Given the description of an element on the screen output the (x, y) to click on. 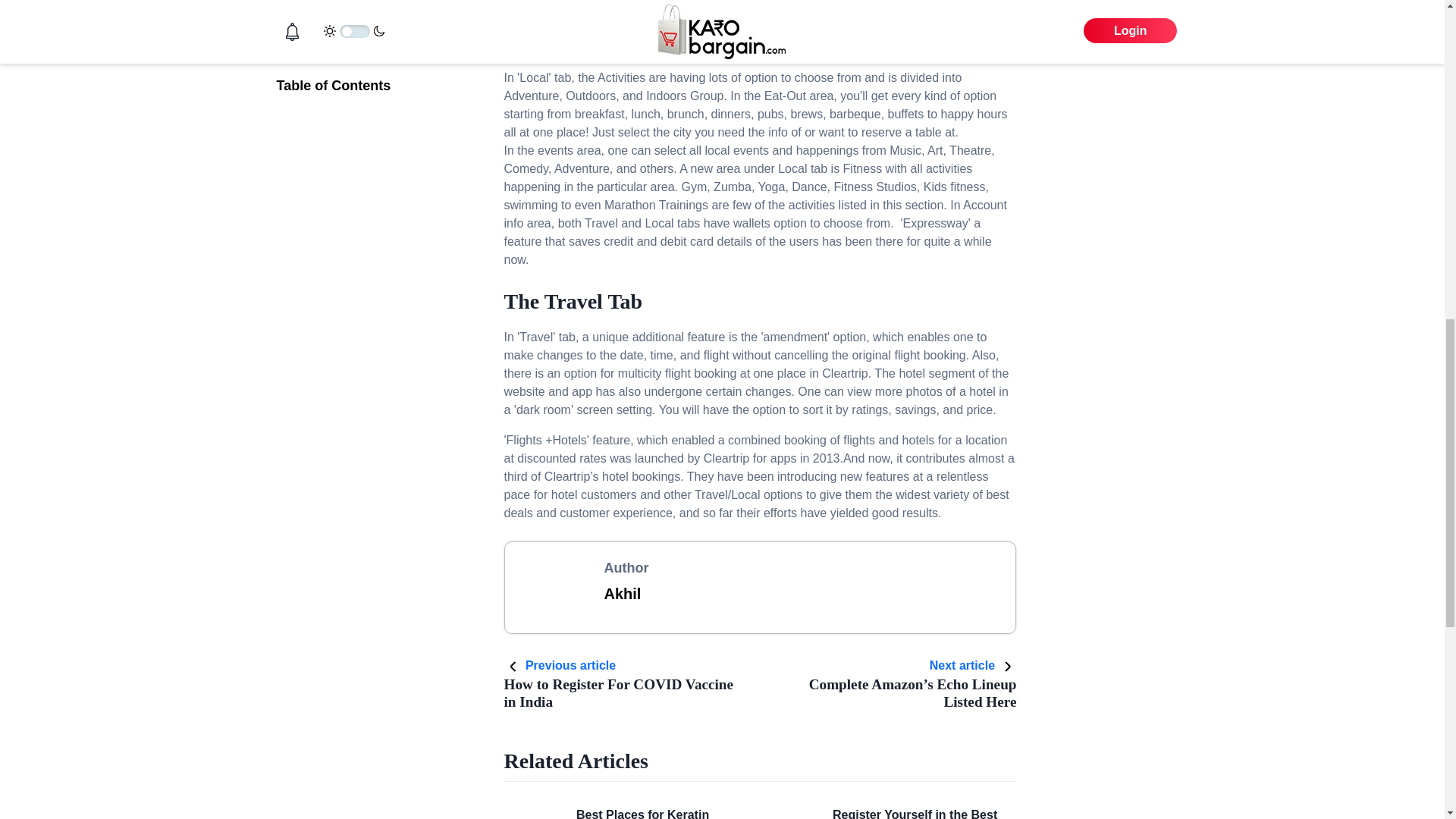
Best Places for Keratin Treatmen... (642, 813)
Register Yourself in the Best Po... (914, 813)
